Given the description of an element on the screen output the (x, y) to click on. 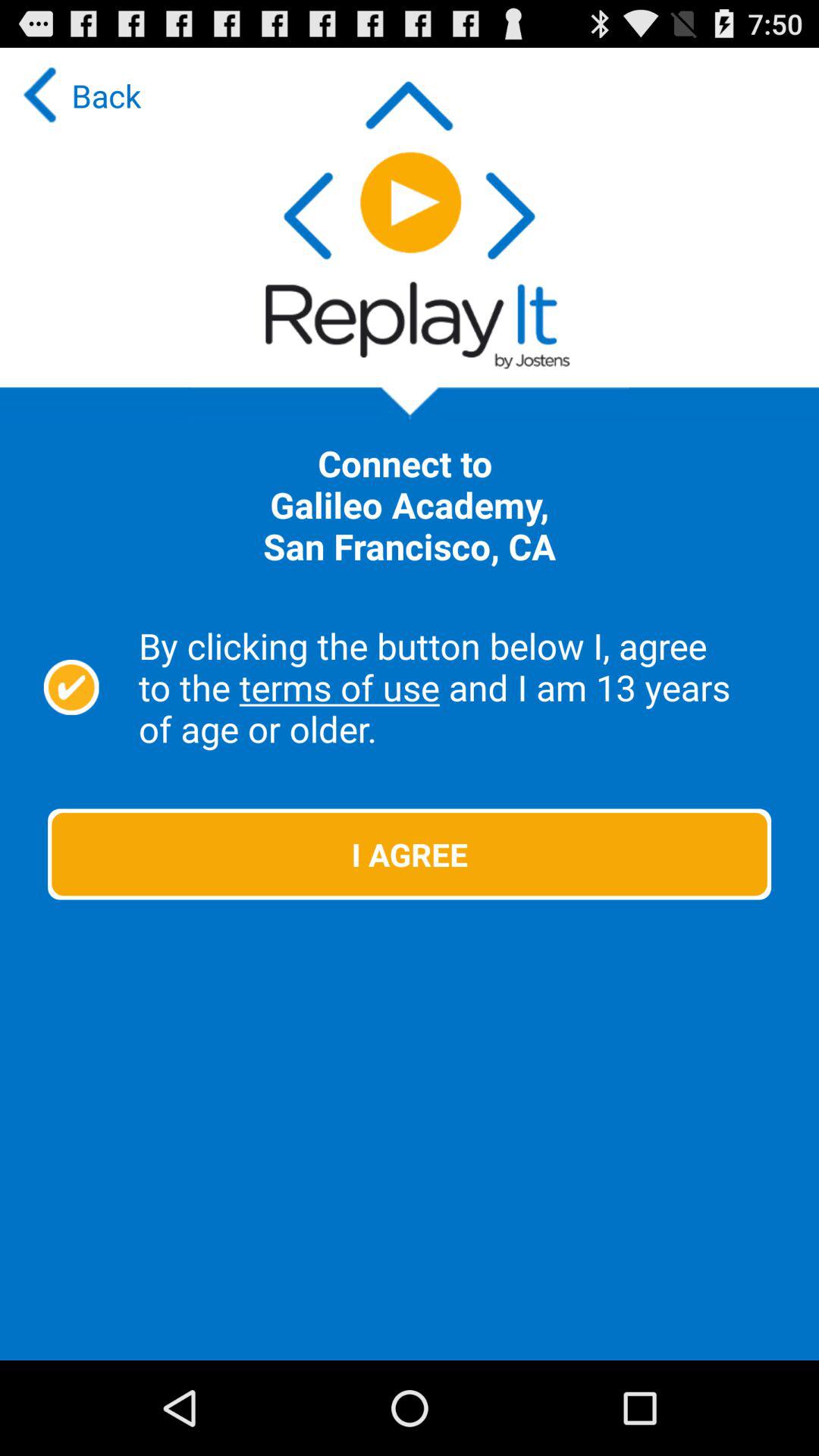
jump until by clicking the icon (460, 687)
